Given the description of an element on the screen output the (x, y) to click on. 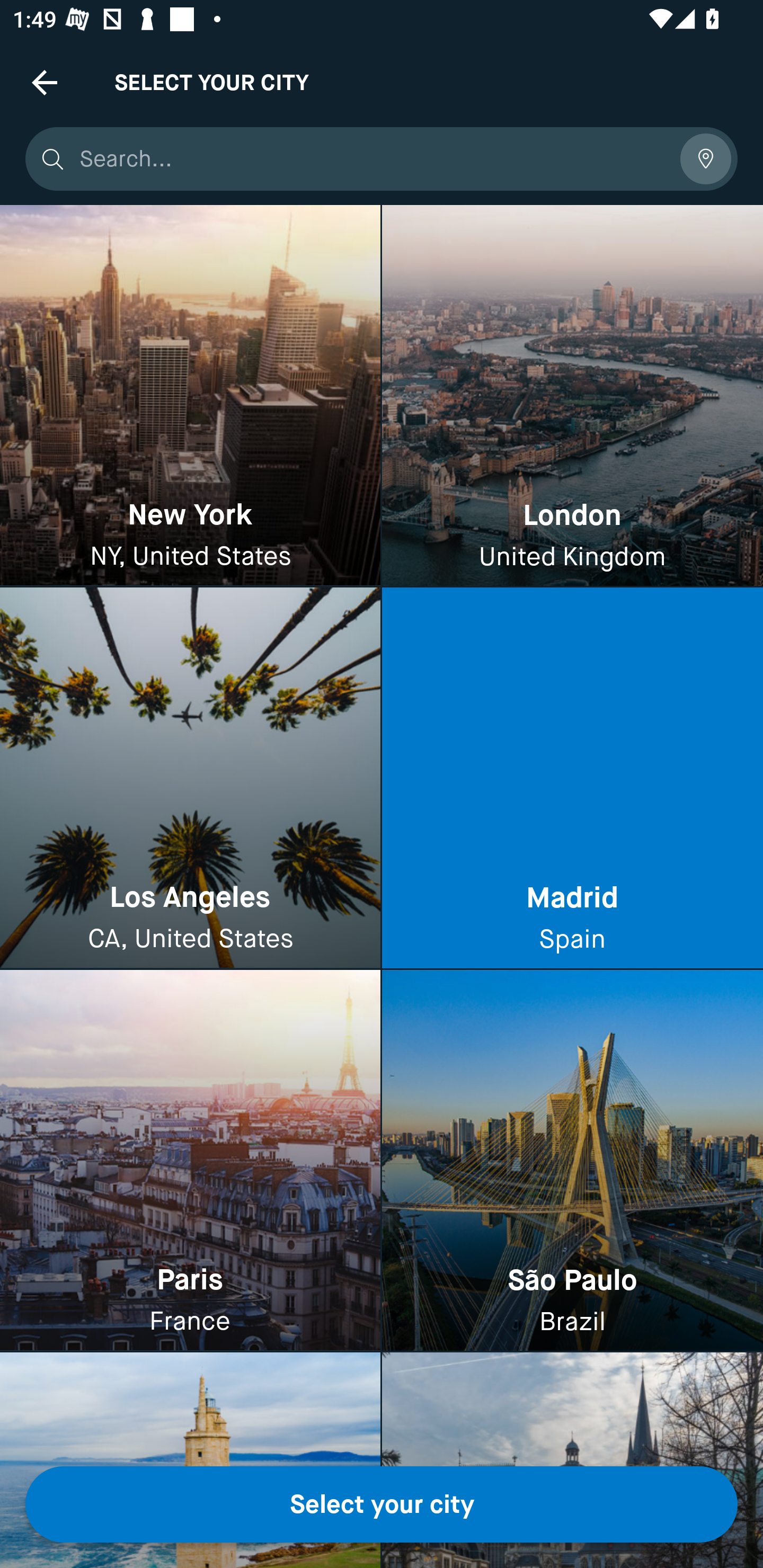
Navigate up (44, 82)
Search... (373, 159)
New York NY, United States (190, 395)
London United Kingdom (572, 395)
Los Angeles CA, United States (190, 778)
Madrid Spain (572, 778)
Paris France (190, 1160)
São Paulo Brazil (572, 1160)
Select your city (381, 1504)
